Given the description of an element on the screen output the (x, y) to click on. 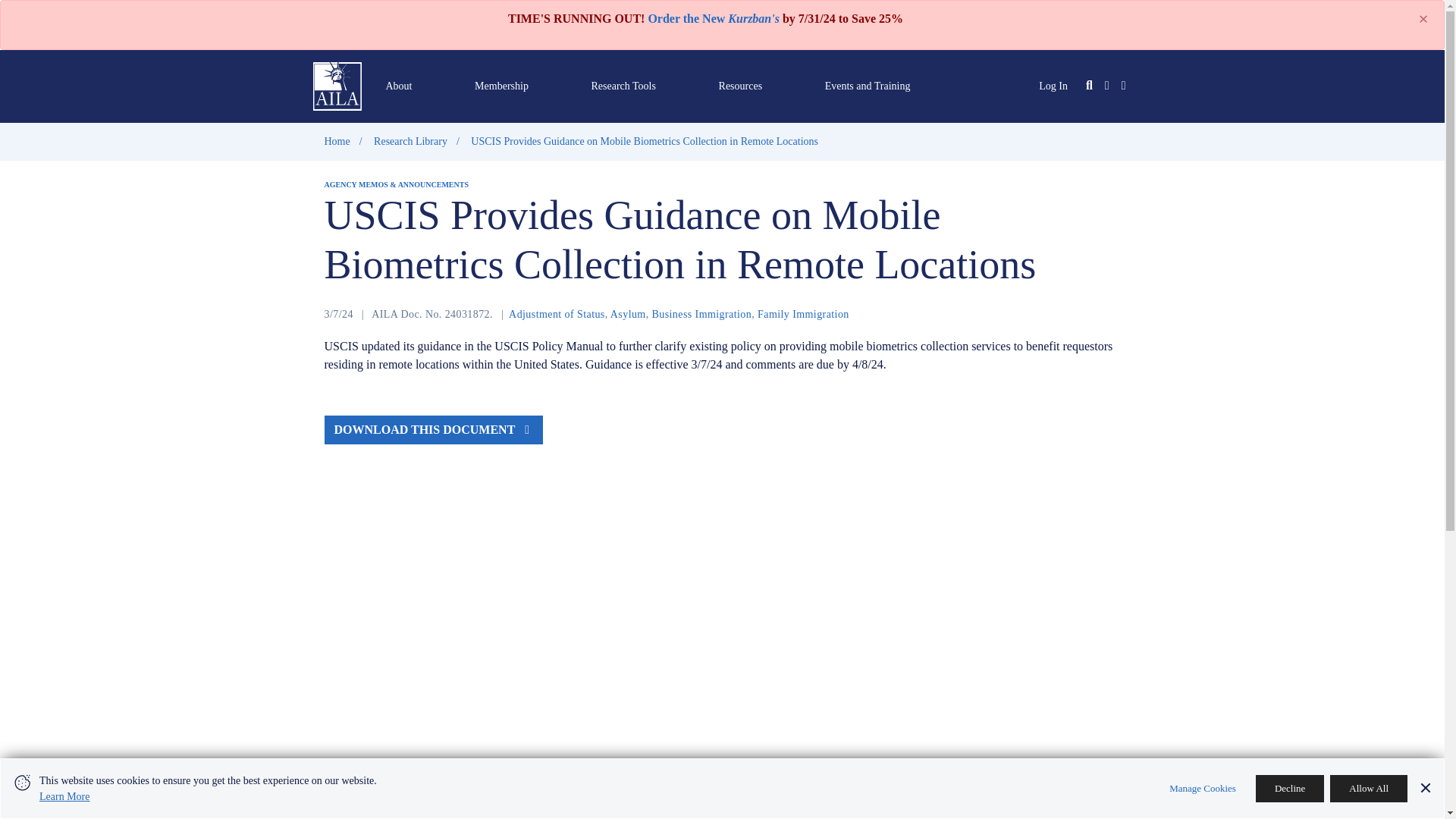
Log In (1053, 85)
Order the New Kurzban's (712, 18)
Log In (1053, 85)
